Given the description of an element on the screen output the (x, y) to click on. 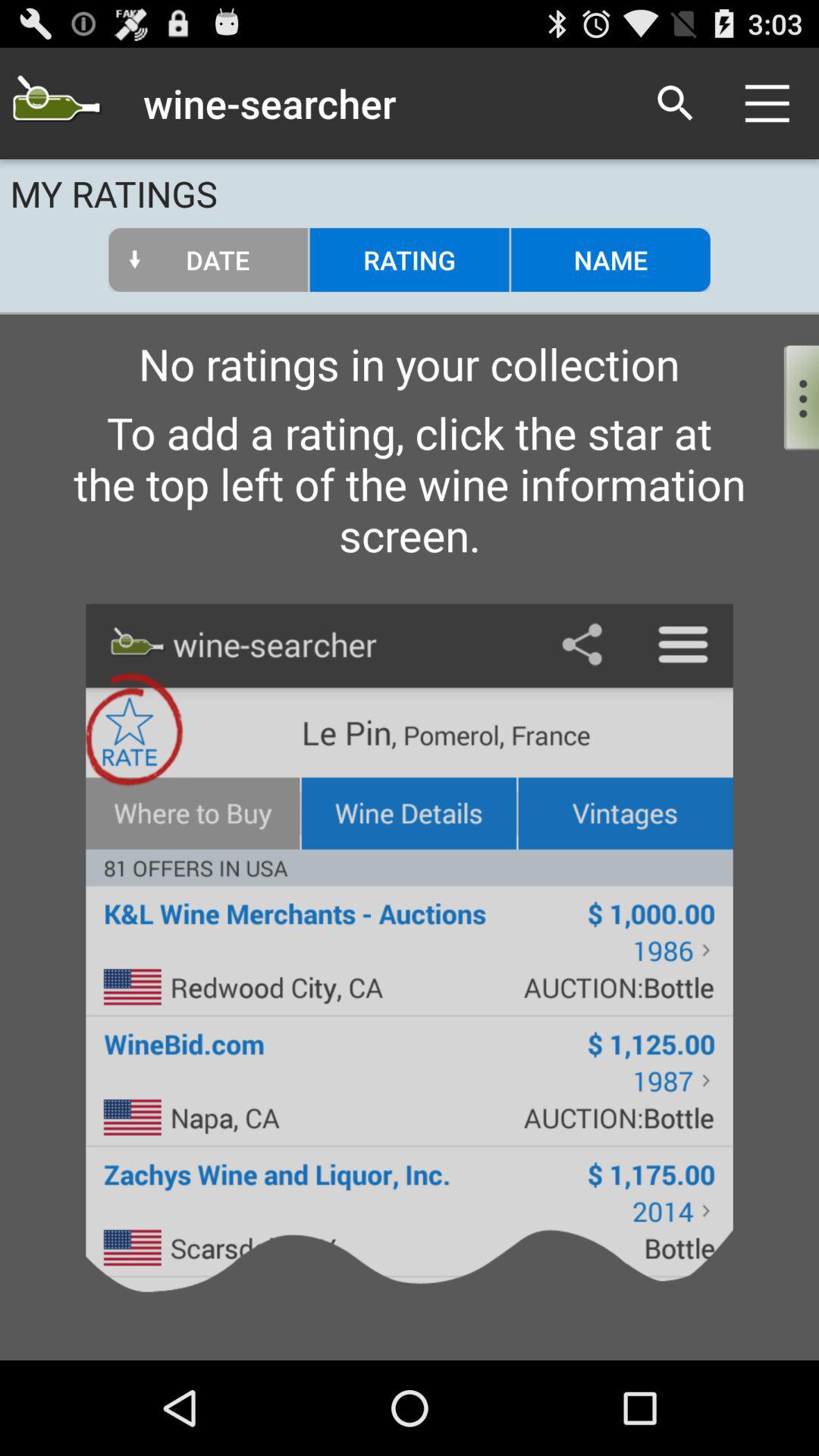
switch autoplay option (789, 393)
